Given the description of an element on the screen output the (x, y) to click on. 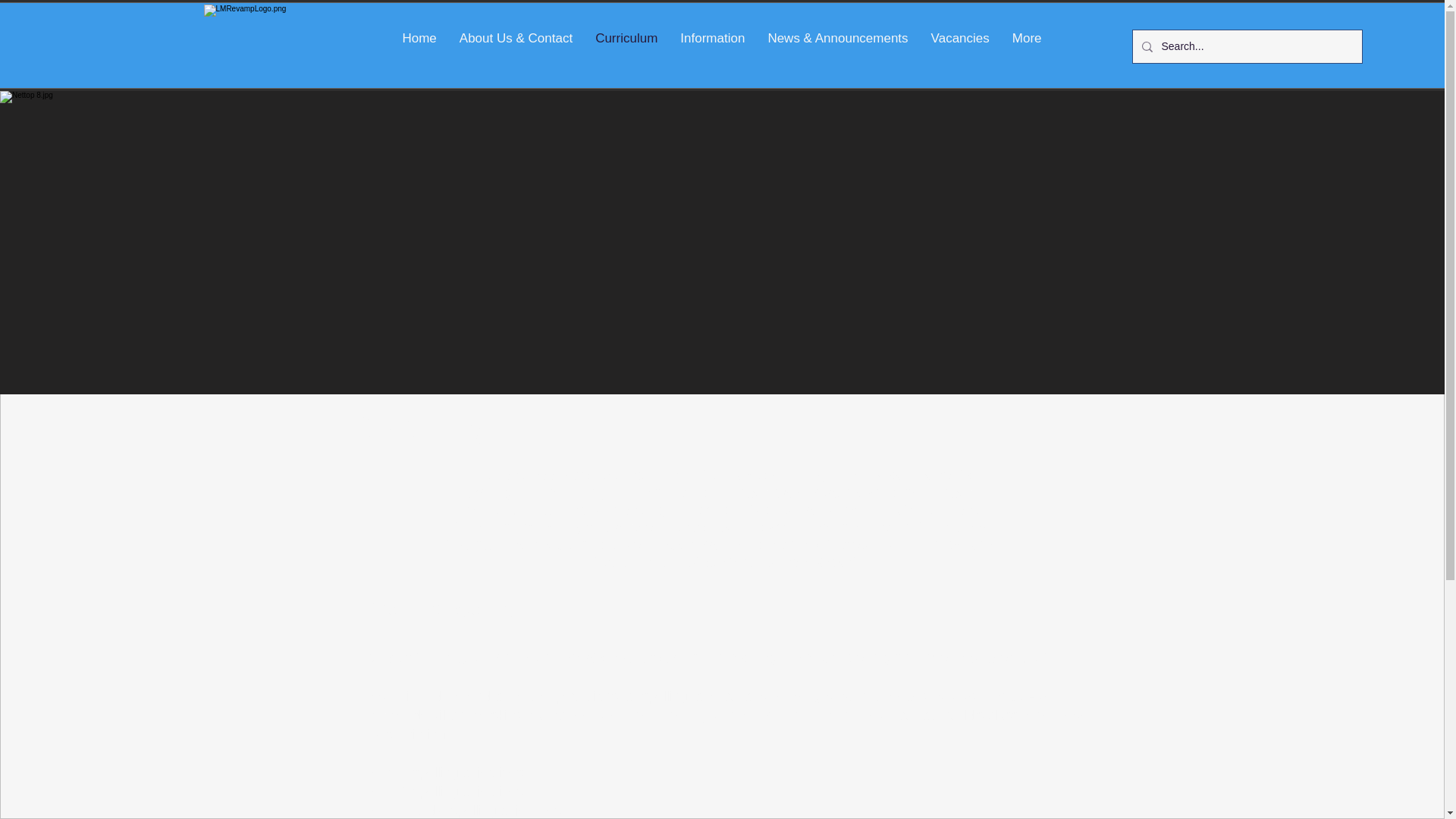
Information (711, 47)
Curriculum (625, 47)
Home (418, 47)
